Given the description of an element on the screen output the (x, y) to click on. 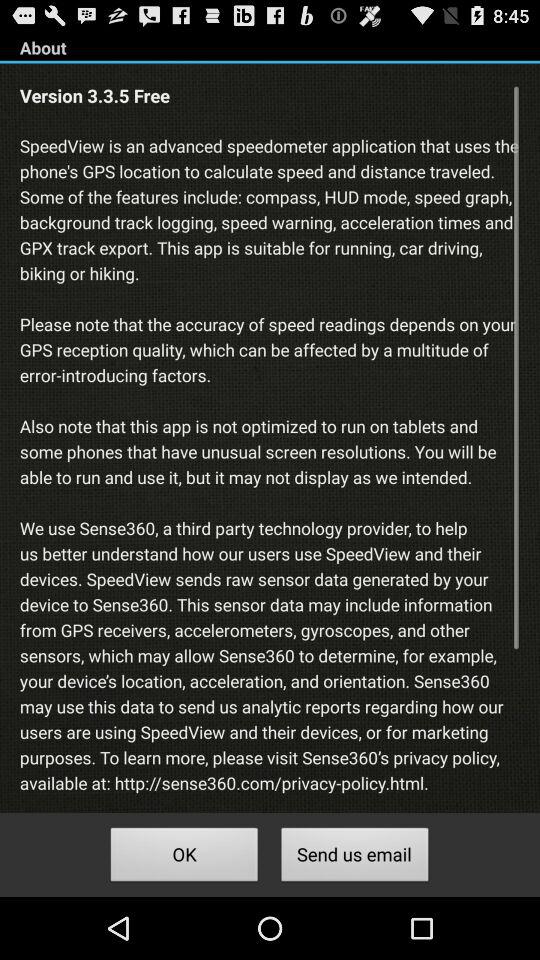
turn on button next to the send us email button (184, 857)
